Given the description of an element on the screen output the (x, y) to click on. 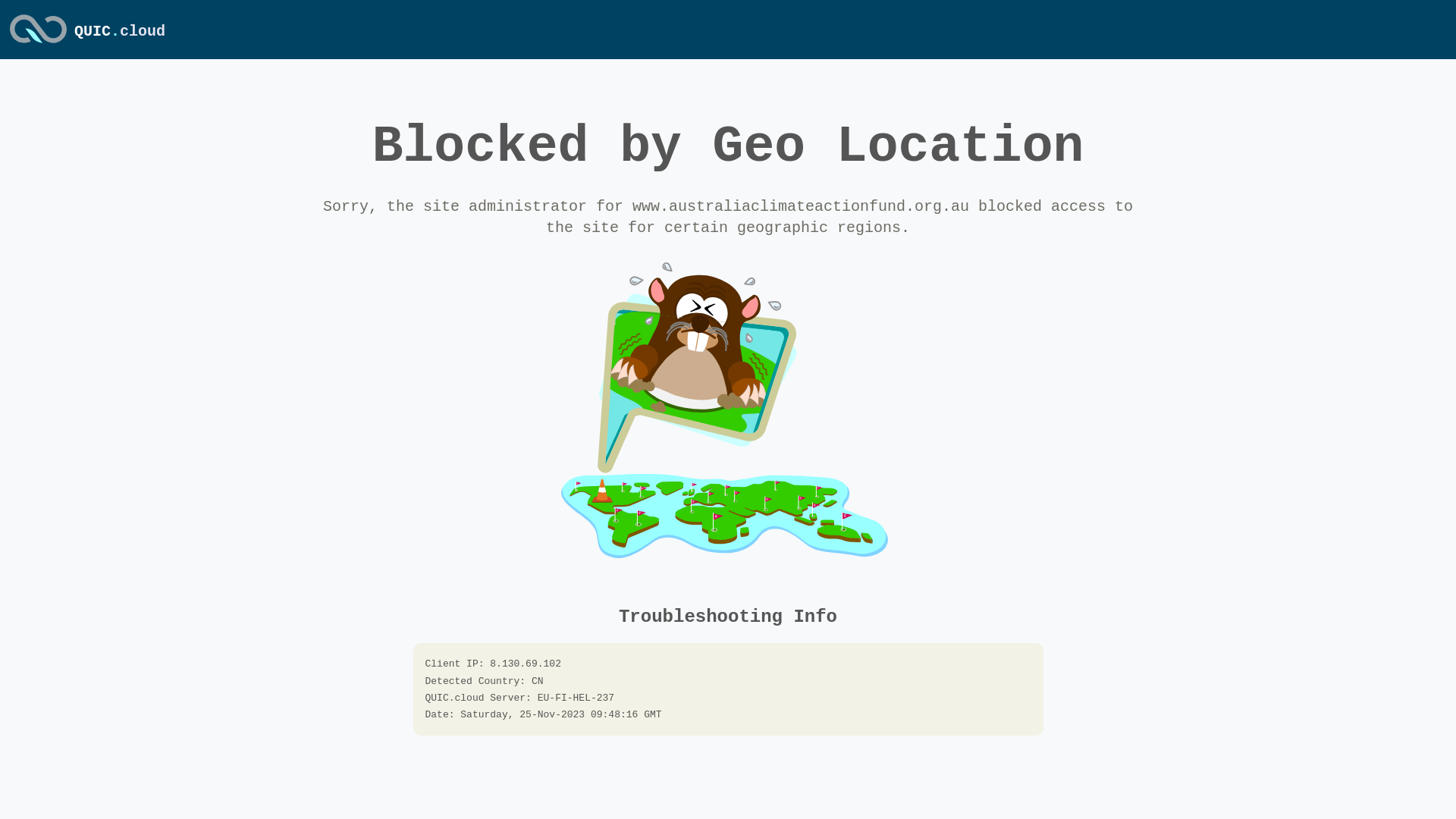
QUIC.cloud Element type: hover (38, 44)
QUIC.cloud Element type: text (119, 31)
